Given the description of an element on the screen output the (x, y) to click on. 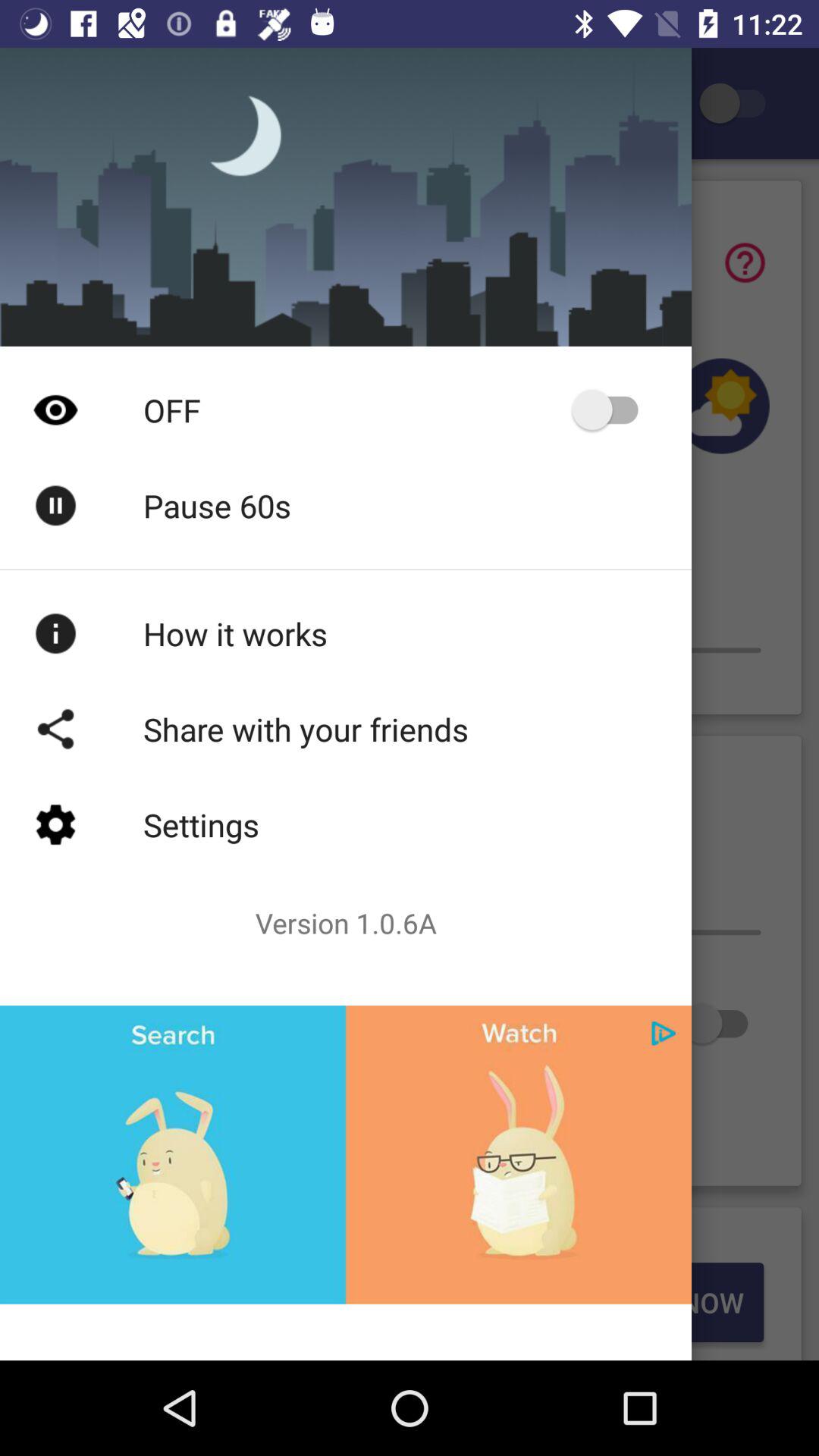
setting page (739, 103)
